Given the description of an element on the screen output the (x, y) to click on. 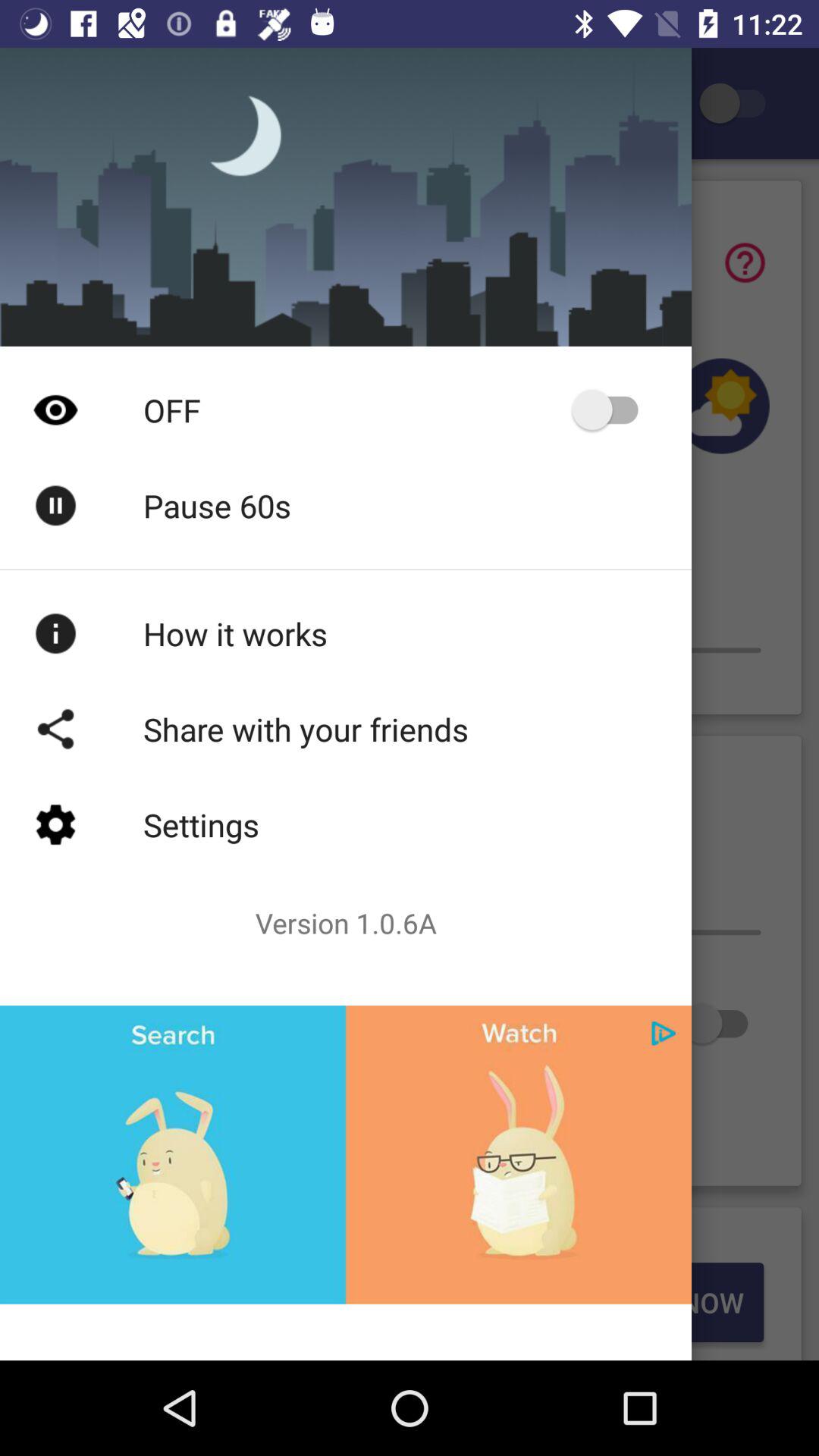
setting page (739, 103)
